Given the description of an element on the screen output the (x, y) to click on. 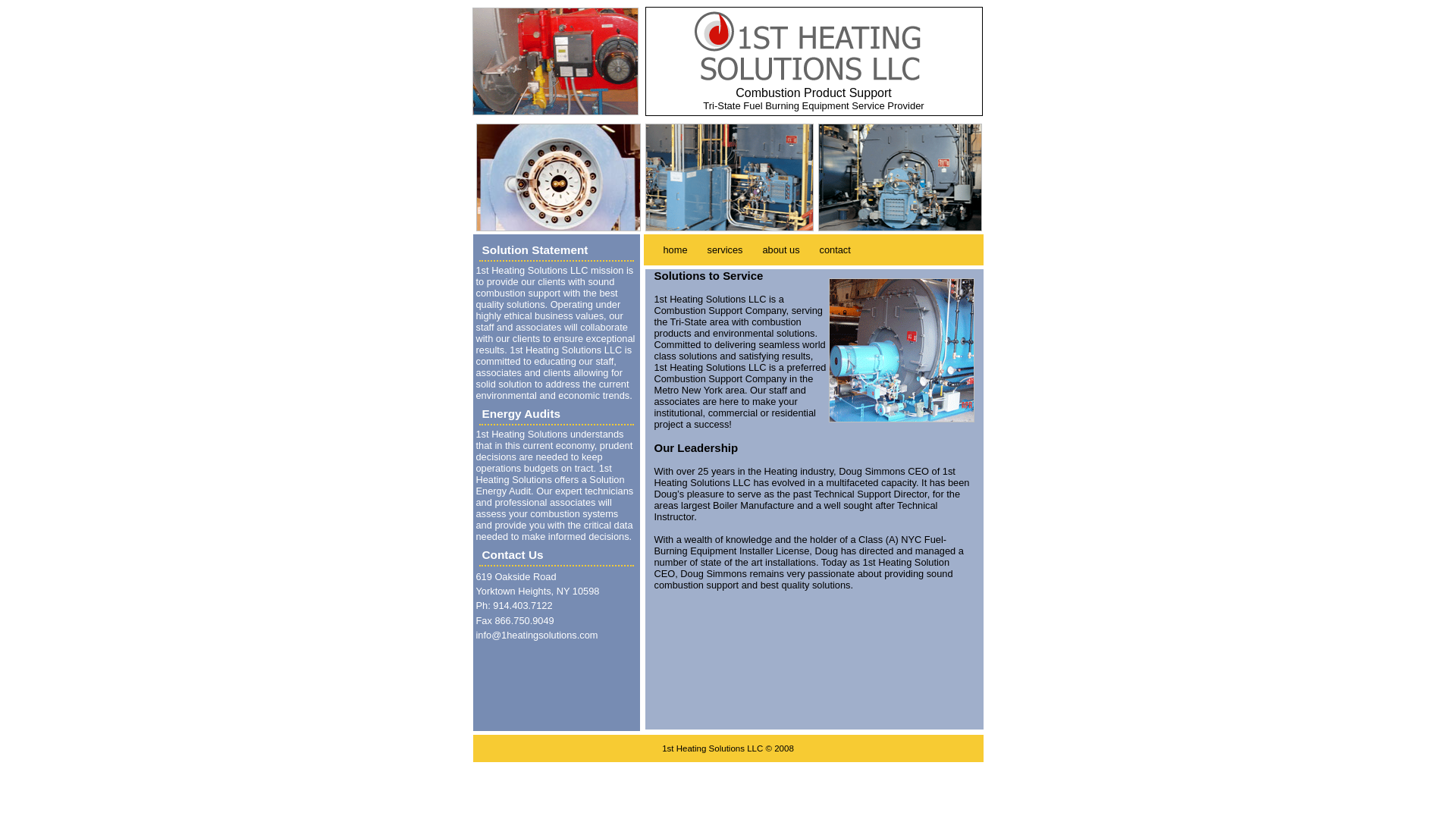
services Element type: text (725, 249)
home Element type: text (675, 249)
about us Element type: text (780, 249)
contact Element type: text (834, 249)
